Given the description of an element on the screen output the (x, y) to click on. 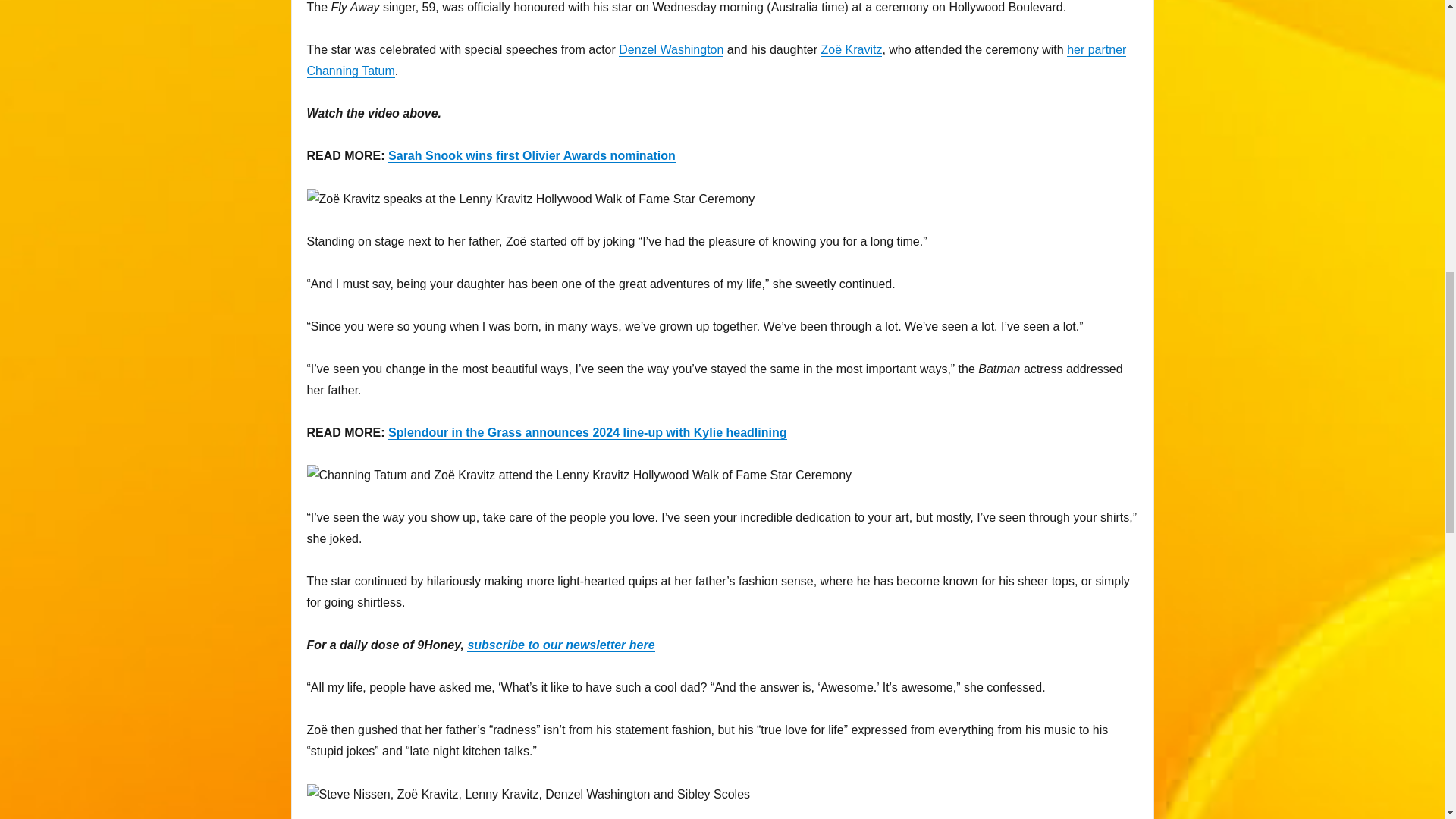
Denzel Washington (670, 49)
her partner Channing Tatum (715, 59)
subscribe to our newsletter here (560, 644)
Sarah Snook wins first Olivier Awards nomination (531, 155)
